Given the description of an element on the screen output the (x, y) to click on. 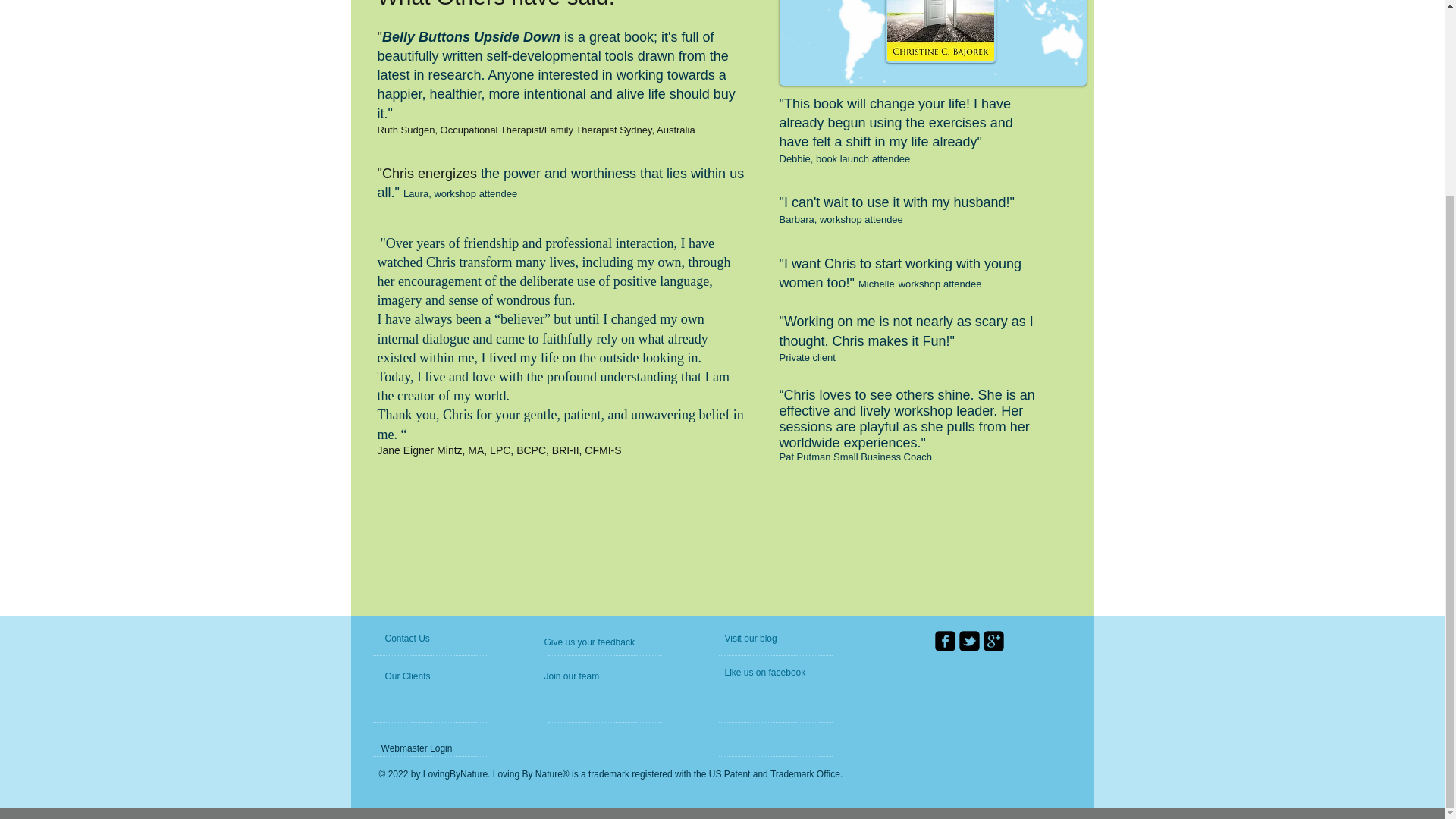
Contact Us (421, 638)
Like us on facebook (786, 671)
Give us your feedback (612, 641)
Our Clients (426, 676)
Webmaster Login (416, 748)
Join our team (585, 676)
Visit our blog (765, 638)
